Given the description of an element on the screen output the (x, y) to click on. 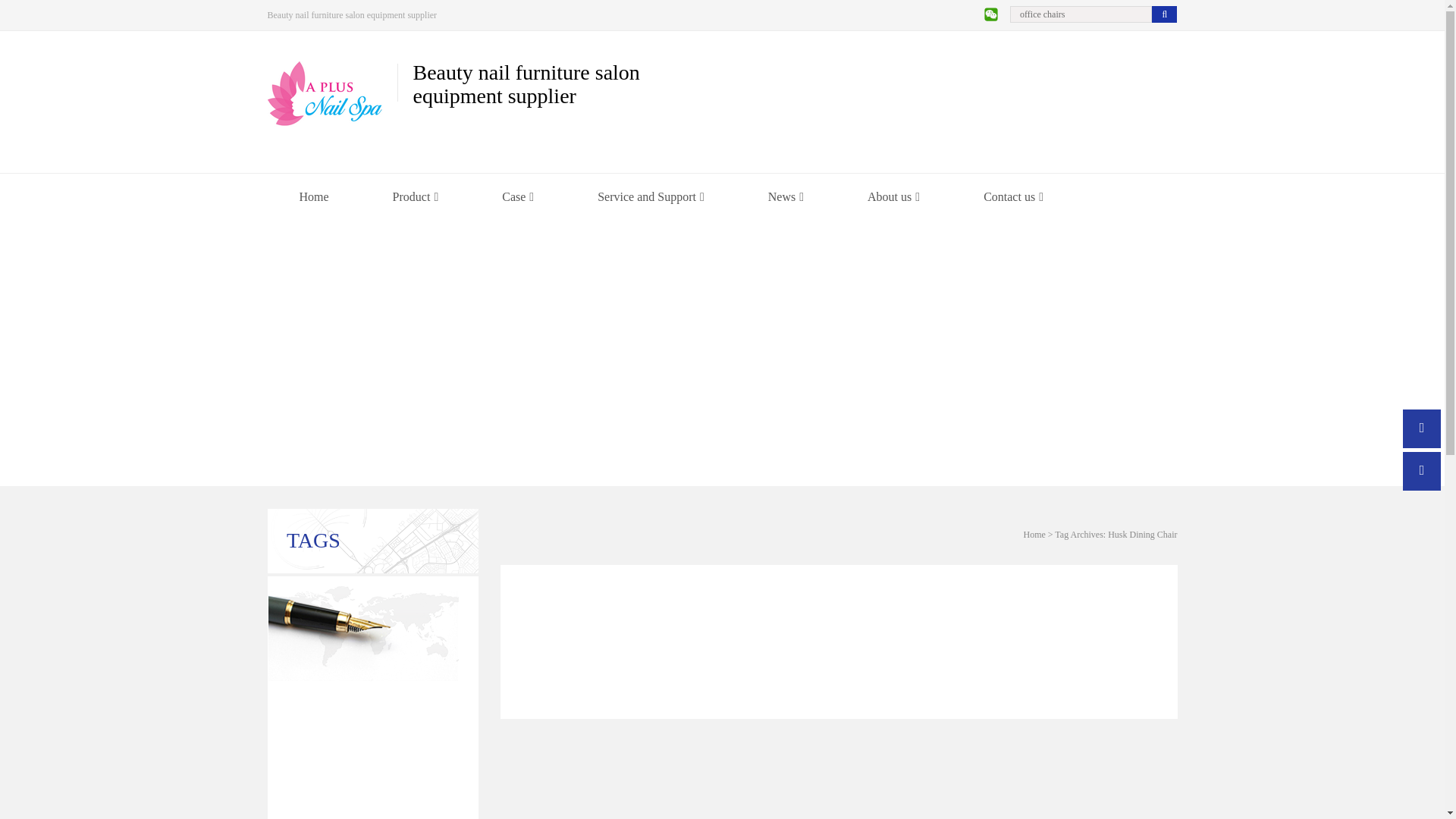
Contact us (1013, 197)
office chairs (1080, 13)
About us (893, 197)
Service and Support (651, 197)
Case (518, 197)
Product (415, 197)
Home (312, 197)
News (785, 197)
